Given the description of an element on the screen output the (x, y) to click on. 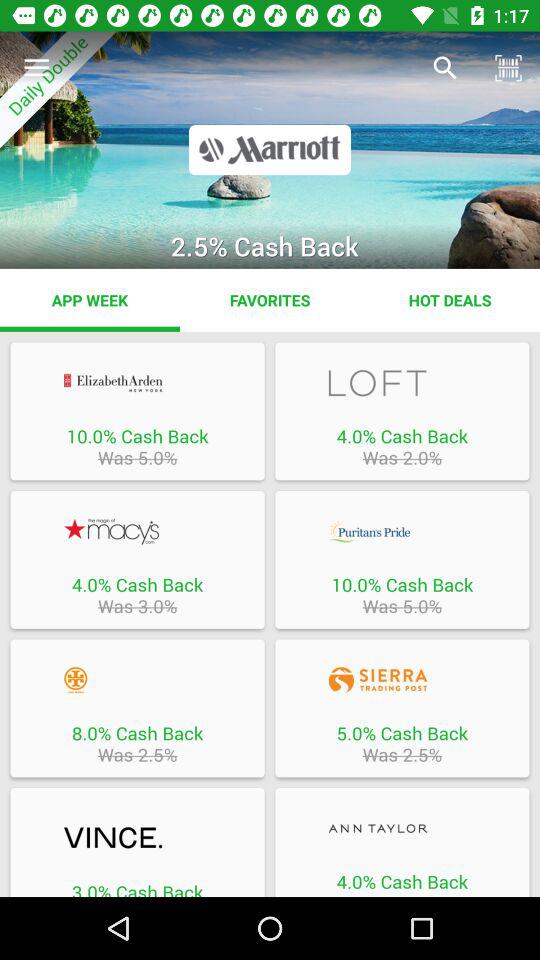
go to loft (402, 382)
